Given the description of an element on the screen output the (x, y) to click on. 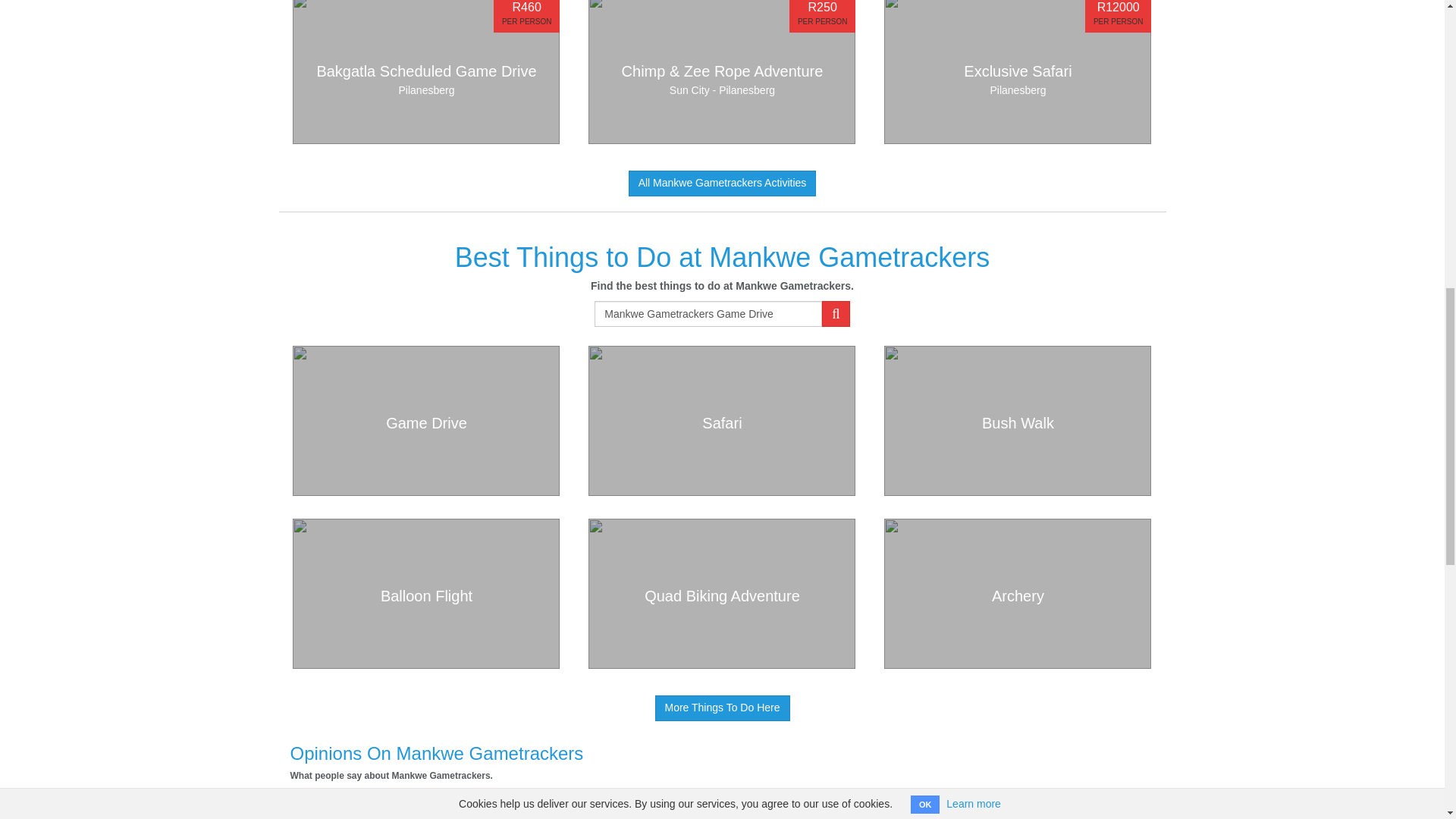
Quad Biking Adventure (722, 593)
Bush Walk (1017, 420)
More Things To Do Here (722, 708)
Balloon Flight (425, 593)
Game Drive (425, 72)
All Mankwe Gametrackers Activities (1017, 72)
Mankwe Gametrackers Game Drive (425, 420)
Archery (722, 183)
Safari (708, 313)
